Given the description of an element on the screen output the (x, y) to click on. 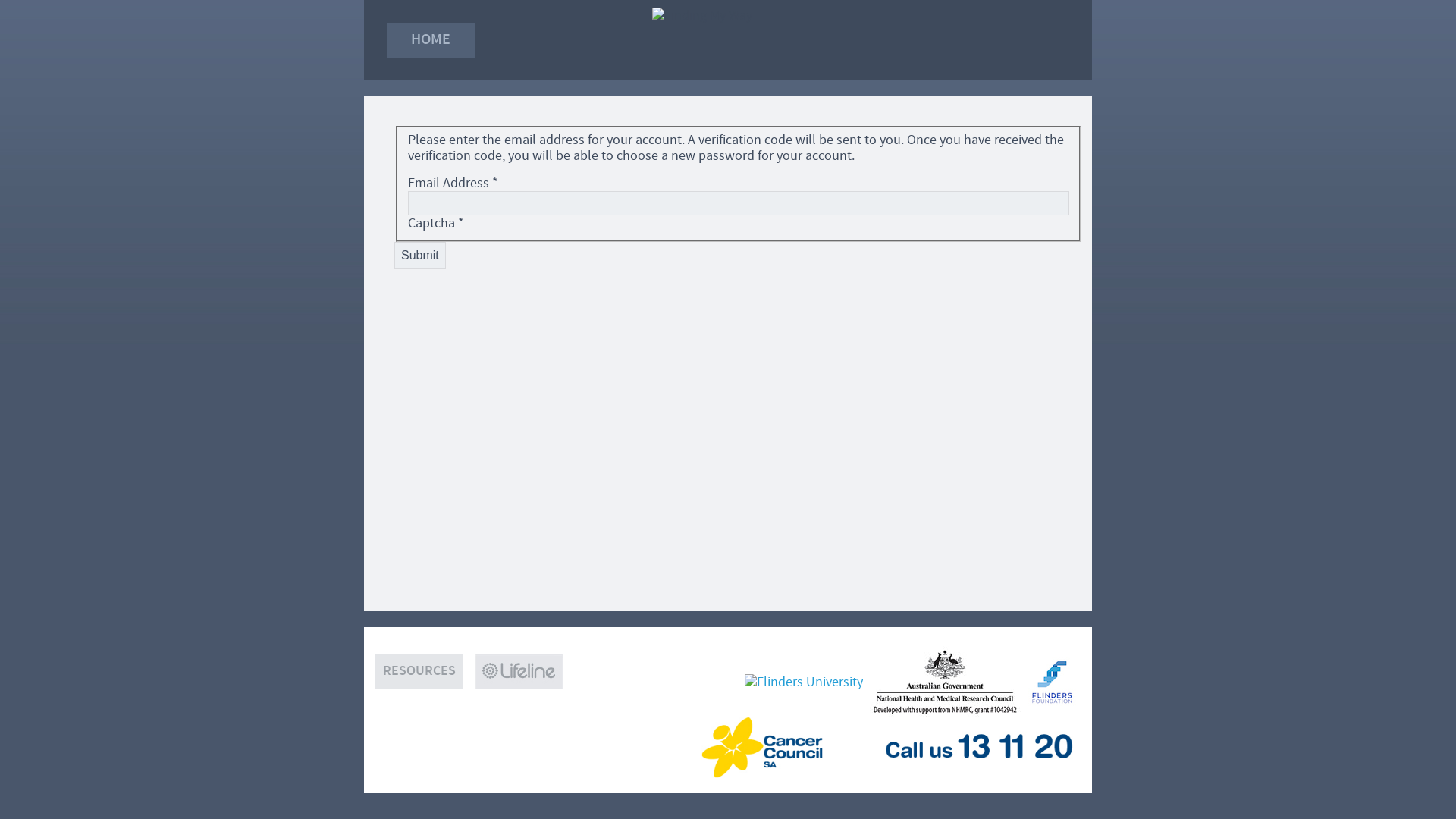
HOME Element type: text (430, 39)
Lifeline Element type: hover (518, 684)
RESOURCES Element type: text (419, 670)
Flinders Medical Centre Foundation Element type: hover (1053, 681)
Flinders University Element type: hover (806, 681)
Submit Element type: text (419, 255)
